Given the description of an element on the screen output the (x, y) to click on. 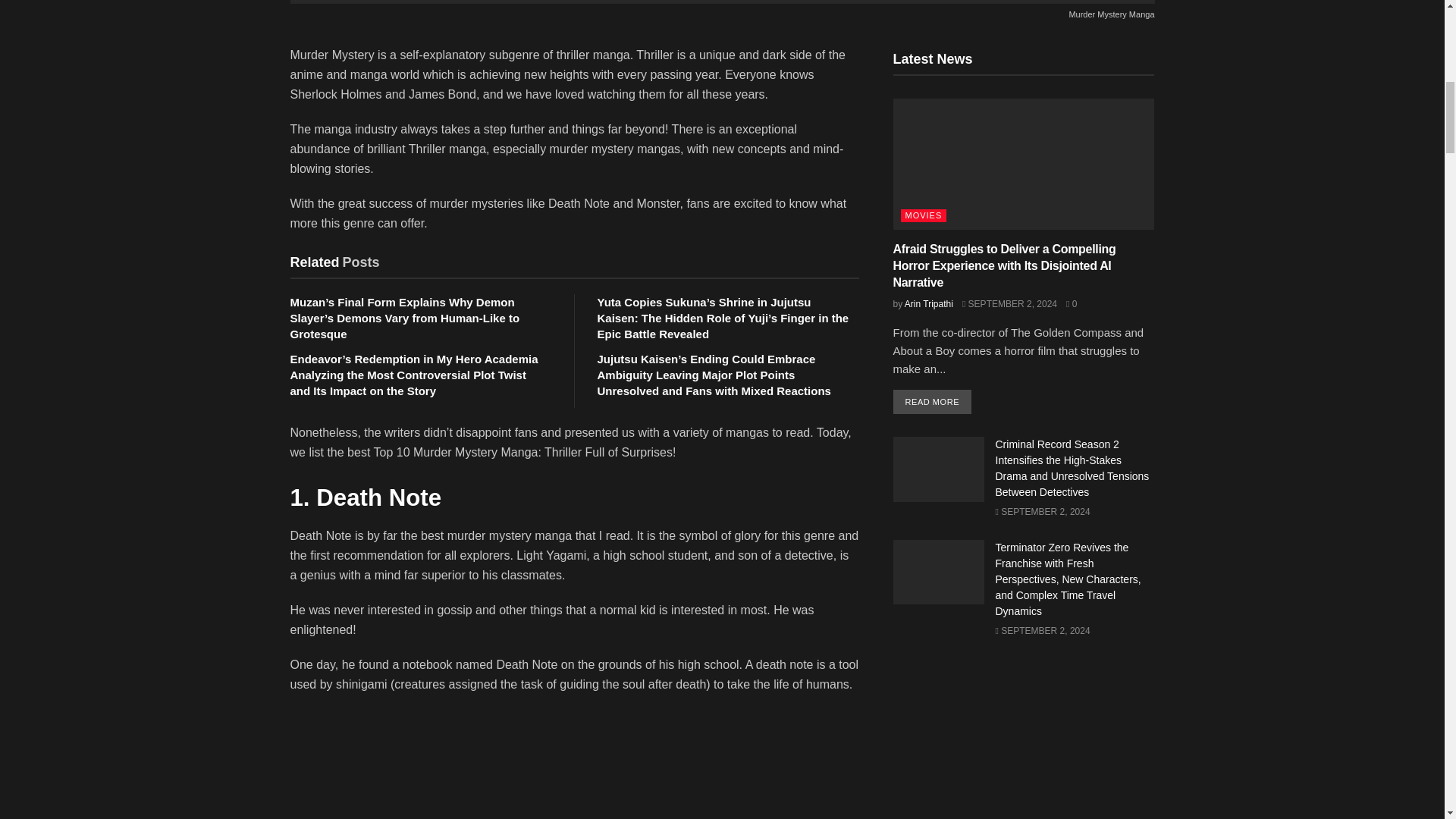
Murder Mystery Manga (721, 11)
MOVIES (924, 215)
Arin Tripathi (928, 303)
